Given the description of an element on the screen output the (x, y) to click on. 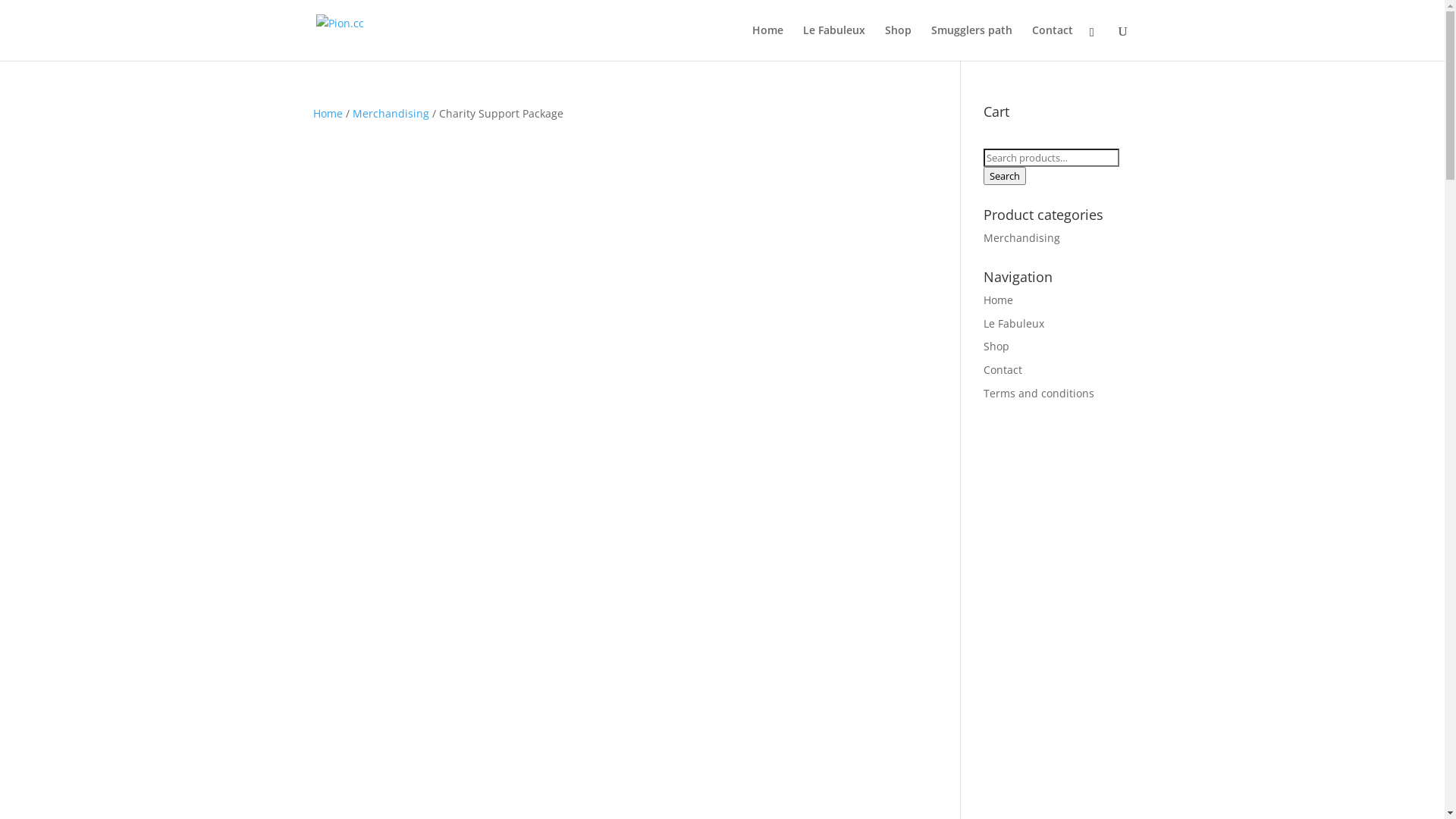
Contact Element type: text (1052, 42)
Terms and conditions Element type: text (1038, 392)
Search Element type: text (1004, 175)
Le Fabuleux Element type: text (1013, 323)
Shop Element type: text (996, 345)
Smugglers path Element type: text (971, 42)
Home Element type: text (327, 113)
Home Element type: text (767, 42)
Le Fabuleux Element type: text (834, 42)
Contact Element type: text (1002, 369)
Shop Element type: text (897, 42)
Home Element type: text (998, 299)
Merchandising Element type: text (389, 113)
Merchandising Element type: text (1021, 237)
